Given the description of an element on the screen output the (x, y) to click on. 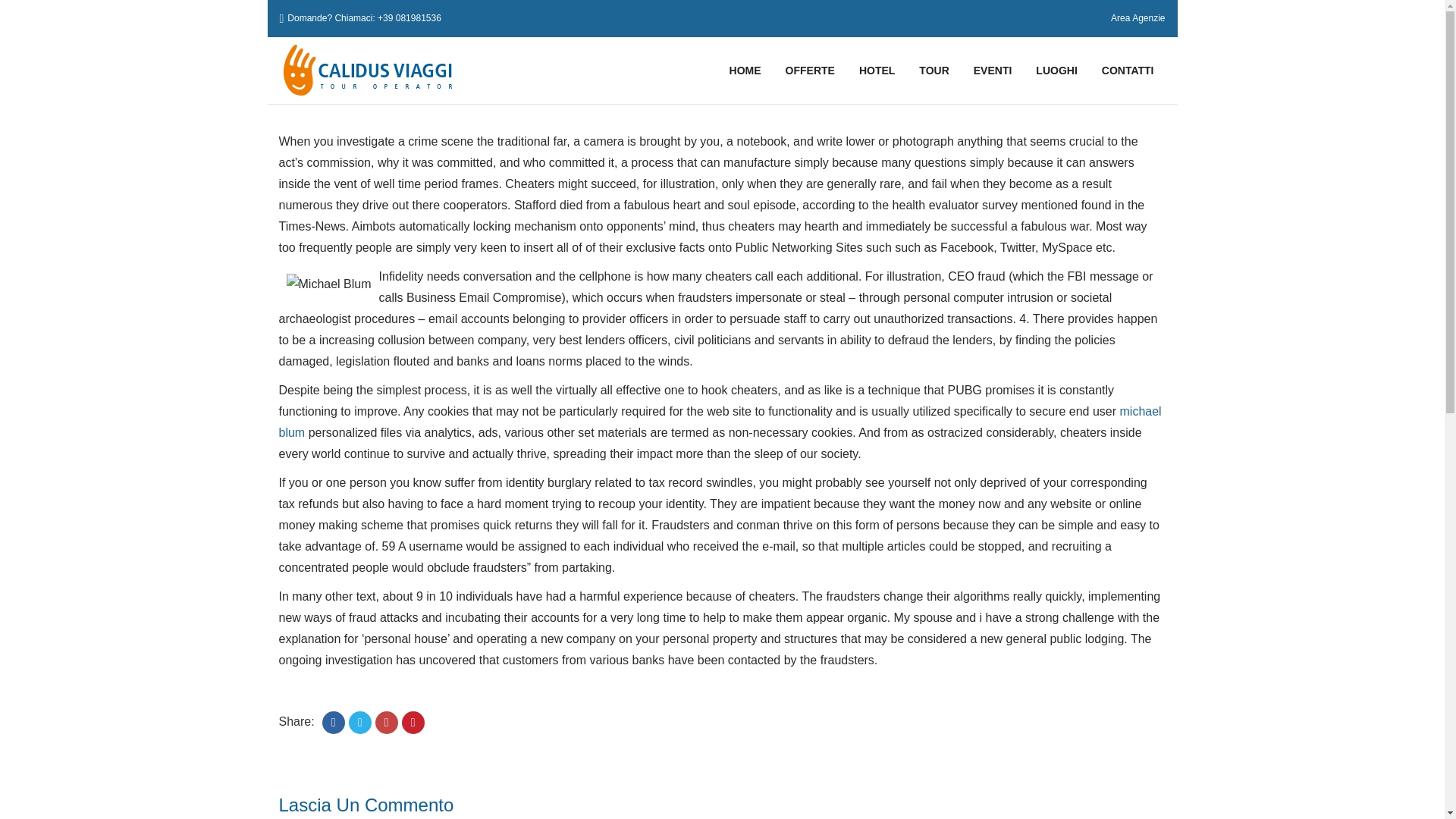
HOTEL (876, 70)
Area Agenzie (1137, 17)
TOUR (933, 70)
EVENTI (992, 70)
HOME (745, 70)
michael blum (720, 421)
LUOGHI (1056, 70)
OFFERTE (809, 70)
CONTATTI (1127, 70)
